Given the description of an element on the screen output the (x, y) to click on. 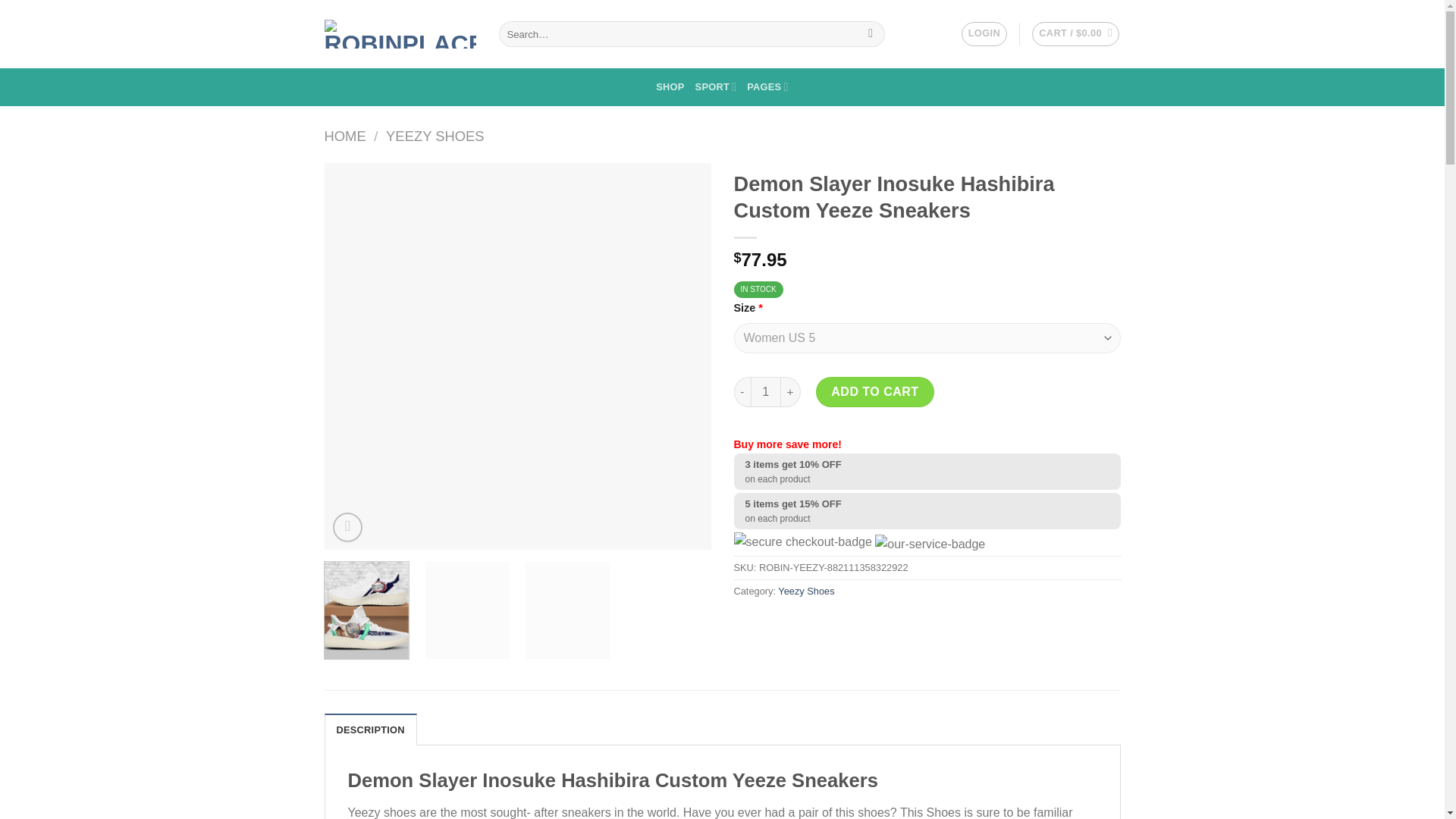
YEEZY SHOES (434, 135)
RobinPlaceFabrics (400, 33)
Zoom (347, 527)
PAGES (766, 86)
1 (765, 391)
HOME (345, 135)
SPORT (715, 86)
Search (871, 33)
LOGIN (983, 33)
Cart (1075, 33)
